Given the description of an element on the screen output the (x, y) to click on. 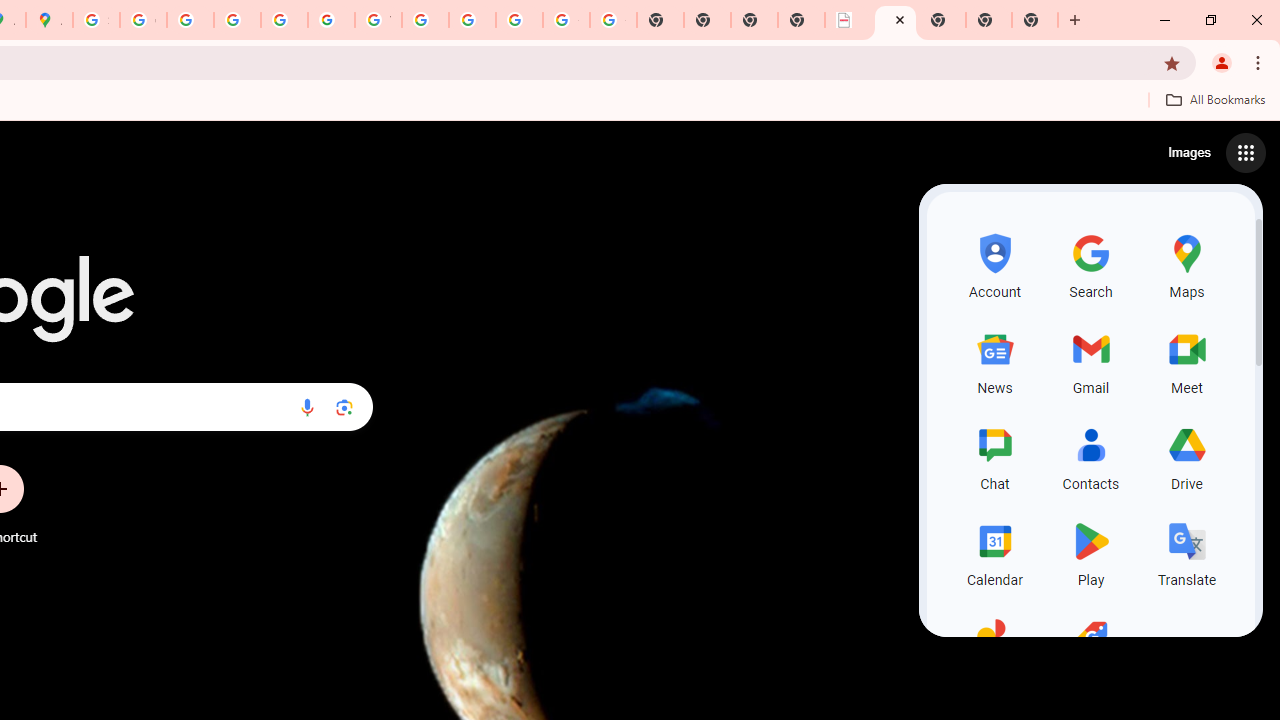
Gmail, row 2 of 5 and column 2 of 3 in the first section (1090, 359)
Meet, row 2 of 5 and column 3 of 3 in the first section (1186, 359)
Chat, row 3 of 5 and column 1 of 3 in the first section (994, 455)
Privacy Help Center - Policies Help (237, 20)
Translate, row 4 of 5 and column 3 of 3 in the first section (1186, 551)
Photos, row 5 of 5 and column 1 of 3 in the first section (994, 647)
YouTube (377, 20)
LAAD Defence & Security 2025 | BAE Systems (848, 20)
